Given the description of an element on the screen output the (x, y) to click on. 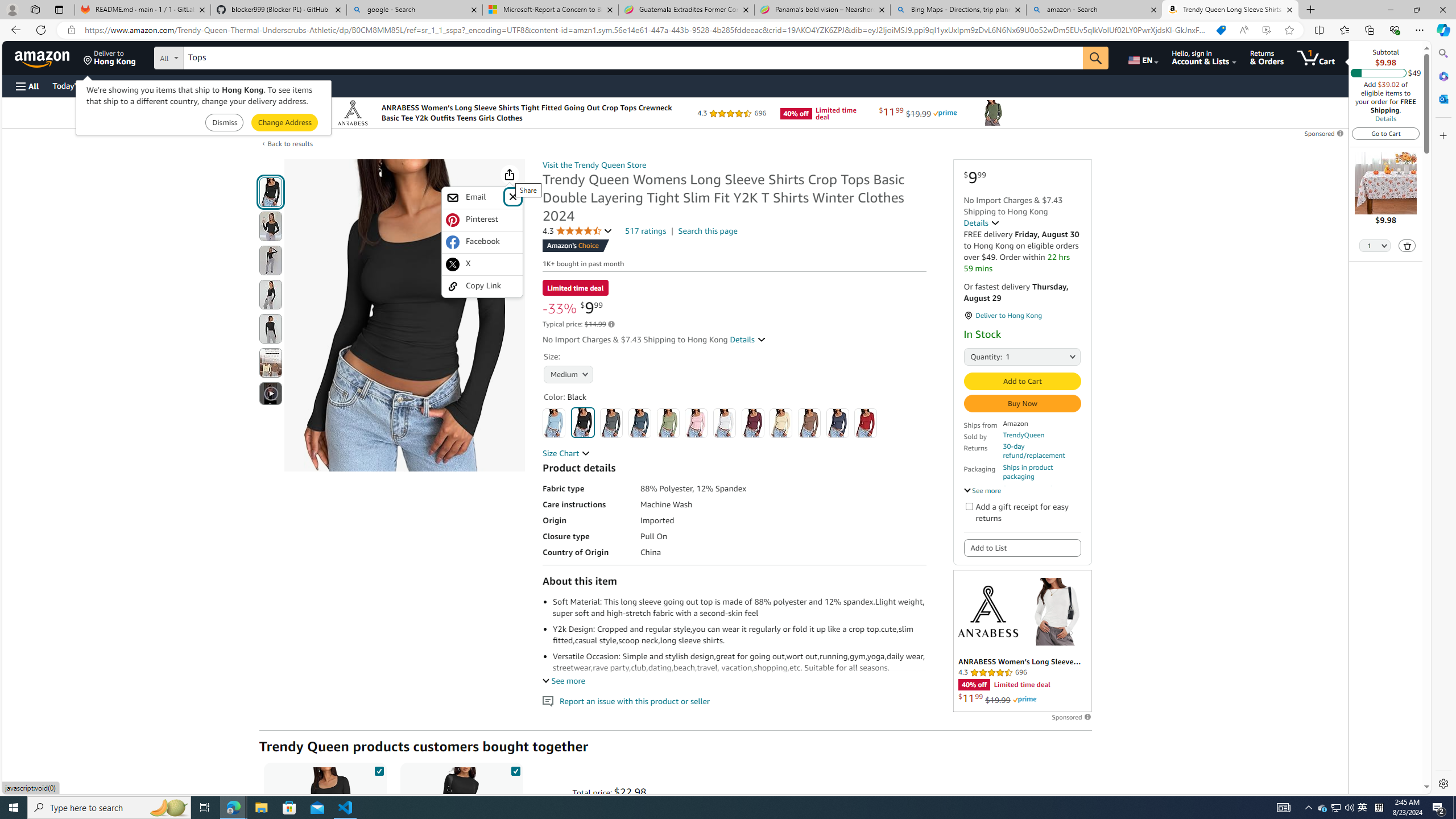
AutomationID: native_dropdown_selected_size_name (566, 373)
Customer Service (145, 85)
Back to results (290, 144)
Pink (696, 422)
Coffee Grey (809, 422)
Prime (1023, 699)
X (482, 264)
1 item in cart (1315, 57)
517 ratings (645, 230)
Go (1096, 57)
Learn more about Amazon pricing and savings (610, 324)
